Given the description of an element on the screen output the (x, y) to click on. 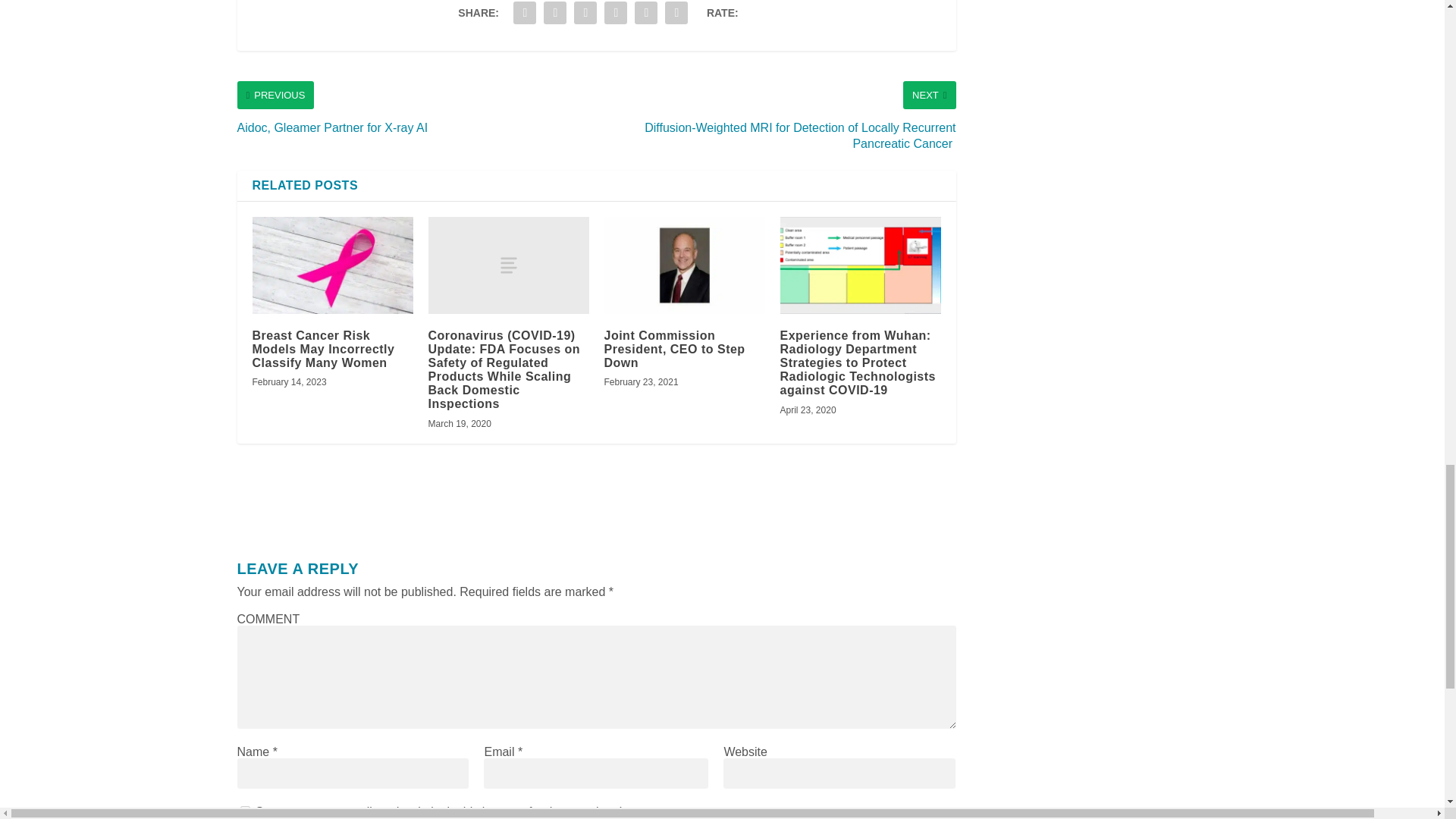
yes (244, 810)
Joint Commission President, CEO to Step Down (684, 264)
